Given the description of an element on the screen output the (x, y) to click on. 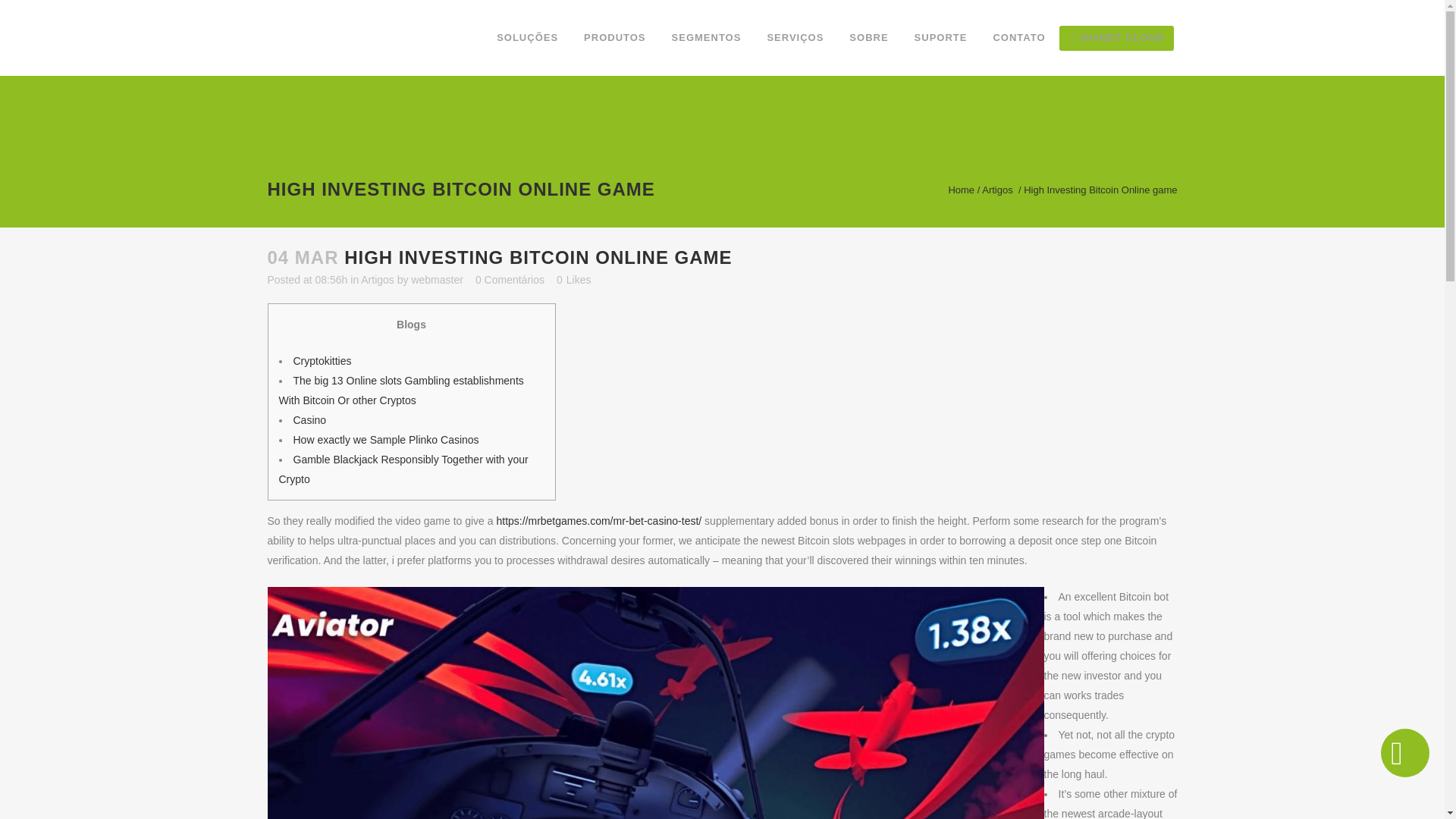
SEGMENTOS (706, 38)
webmaster (436, 279)
Artigos (377, 279)
Home (960, 188)
CONTATO (1018, 38)
0 Likes (573, 279)
Cryptokitties (321, 360)
SUPORTE (940, 38)
SOBRE (868, 38)
Casino (309, 419)
How exactly we Sample Plinko Casinos (385, 439)
Gamble Blackjack Responsibly Together with your Crypto (403, 469)
DIANET CLOUD (1117, 38)
PRODUTOS (614, 38)
